Given the description of an element on the screen output the (x, y) to click on. 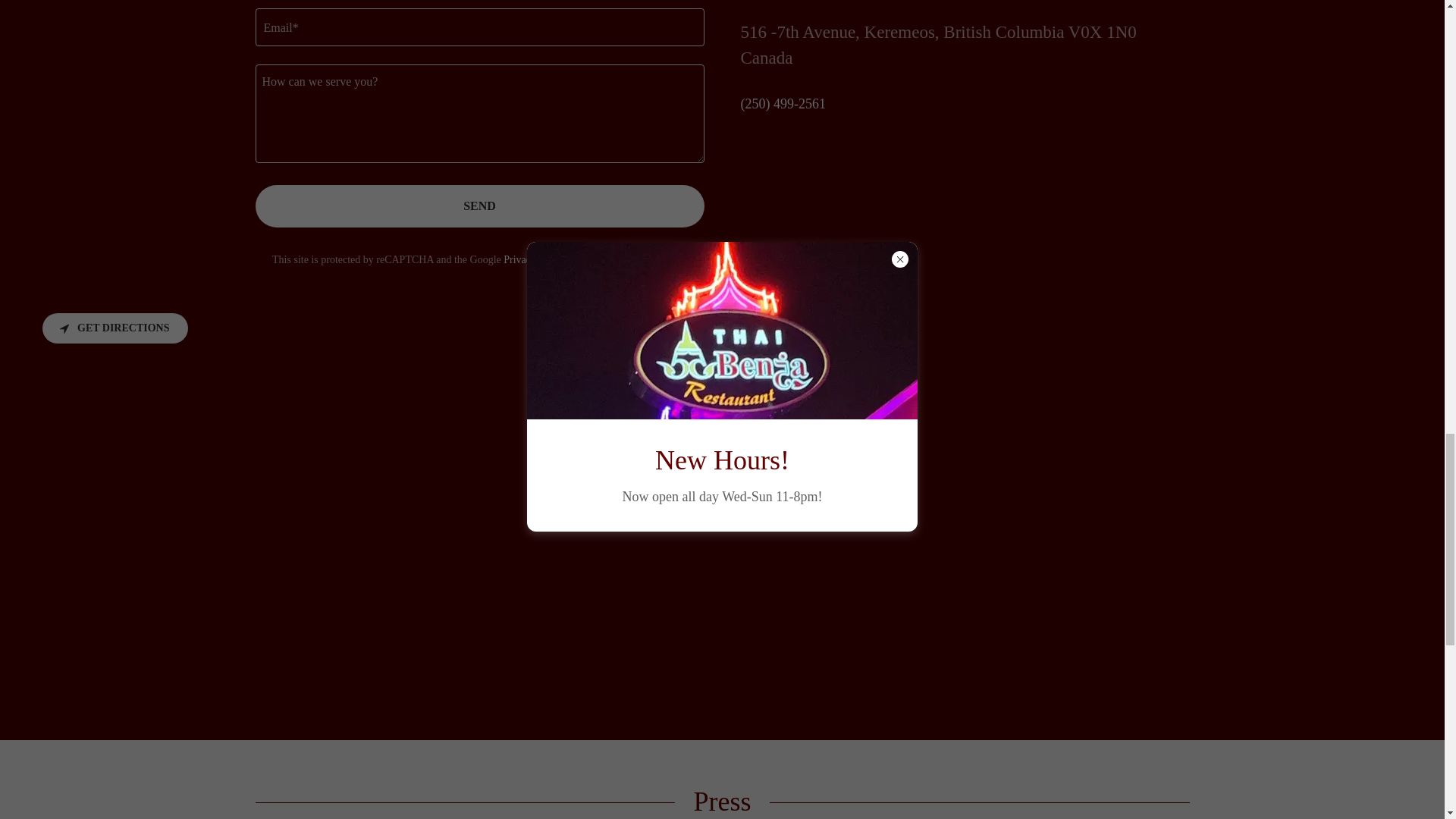
GET DIRECTIONS (114, 327)
SEND (478, 206)
Privacy Policy (534, 259)
Terms of Service (622, 259)
